Given the description of an element on the screen output the (x, y) to click on. 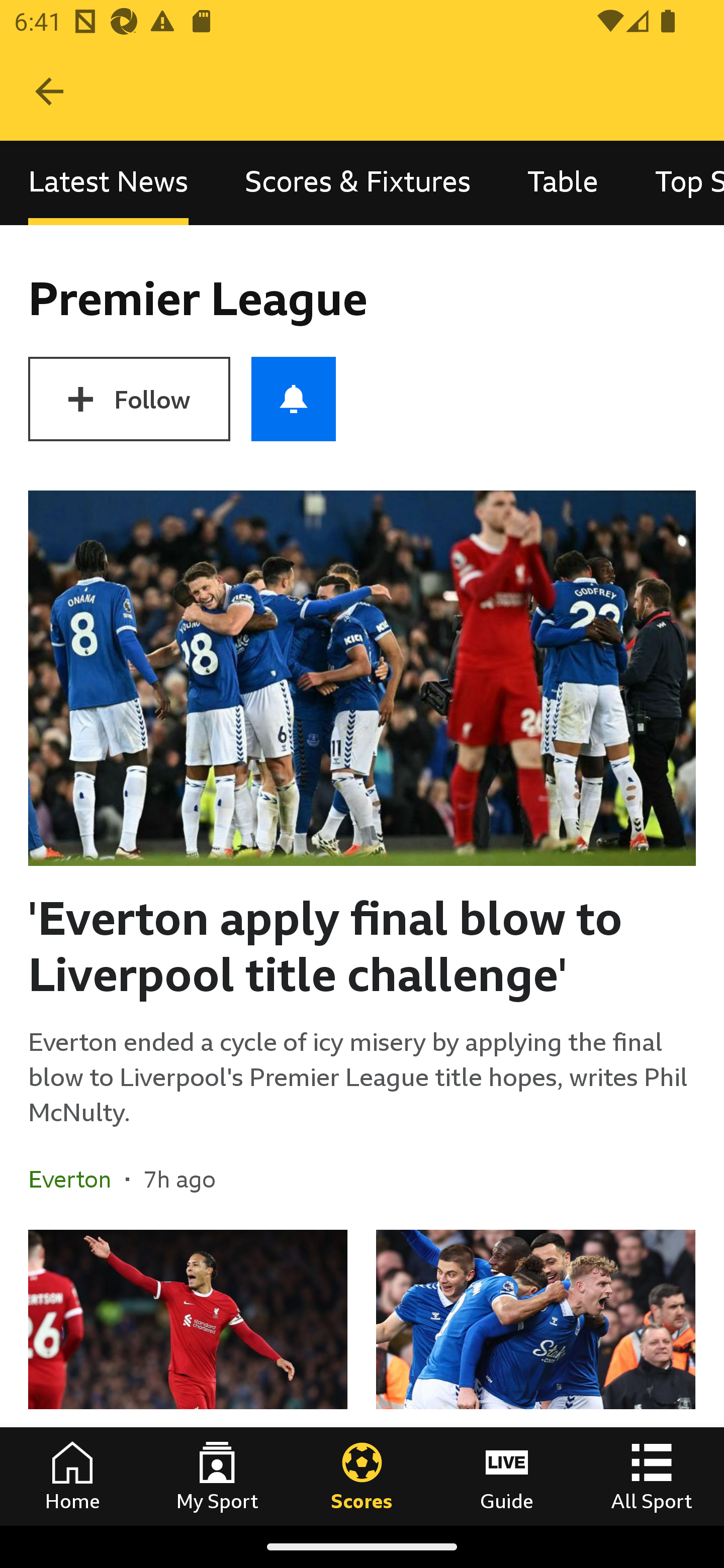
Navigate up (49, 91)
Latest News, selected Latest News (108, 183)
Scores & Fixtures (357, 183)
Table (562, 183)
Follow Premier League Follow (129, 398)
Push notifications for Premier League (293, 398)
Everton In the section Everton (76, 1178)
Van Dijk questions desire of team-mates after loss (188, 1377)
Home (72, 1475)
My Sport (216, 1475)
Guide (506, 1475)
All Sport (651, 1475)
